Given the description of an element on the screen output the (x, y) to click on. 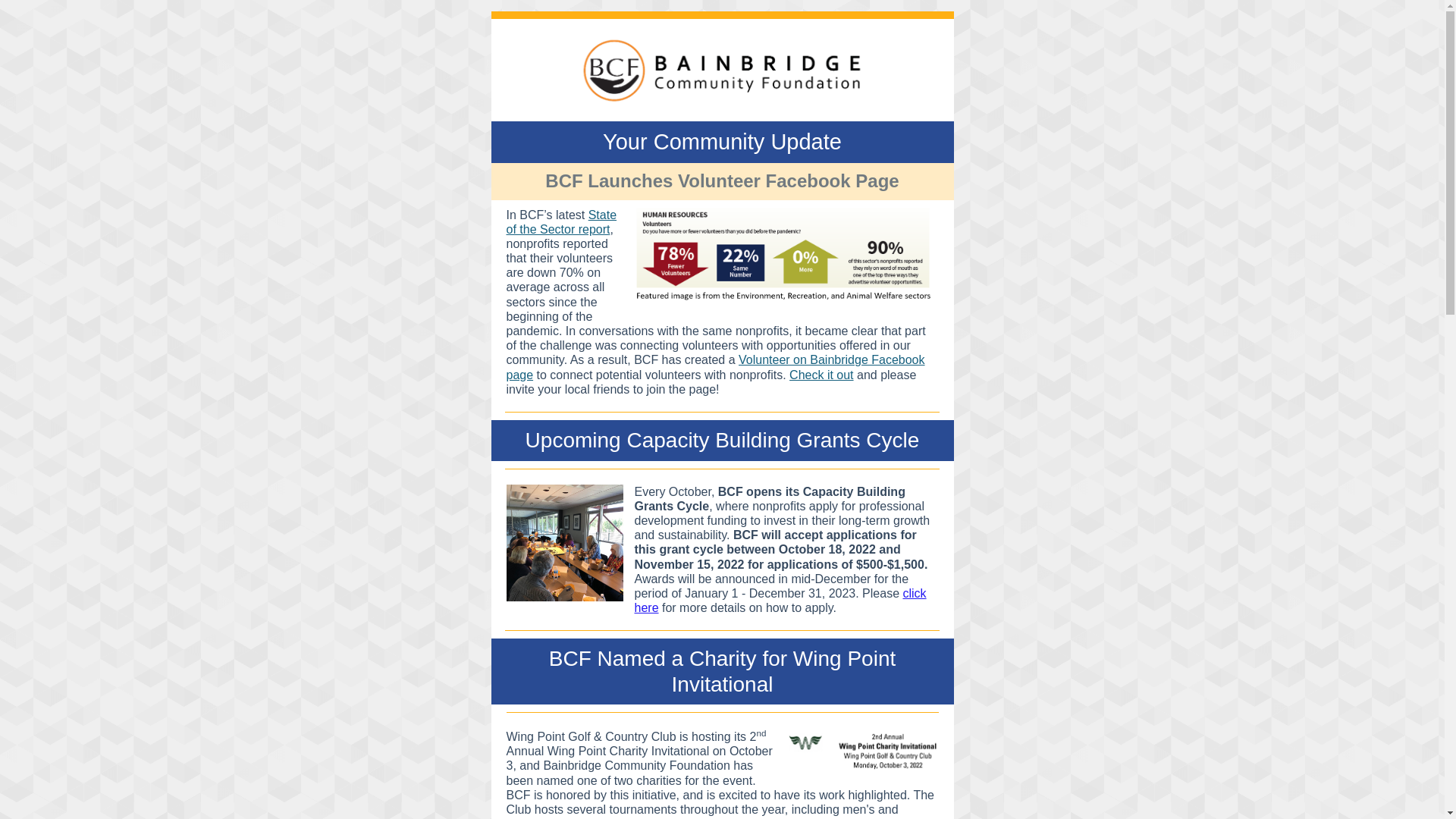
Volunteer on Bainbridge Facebook page (715, 366)
click here (779, 600)
Check it out (821, 374)
State of the Sector report (561, 221)
